Given the description of an element on the screen output the (x, y) to click on. 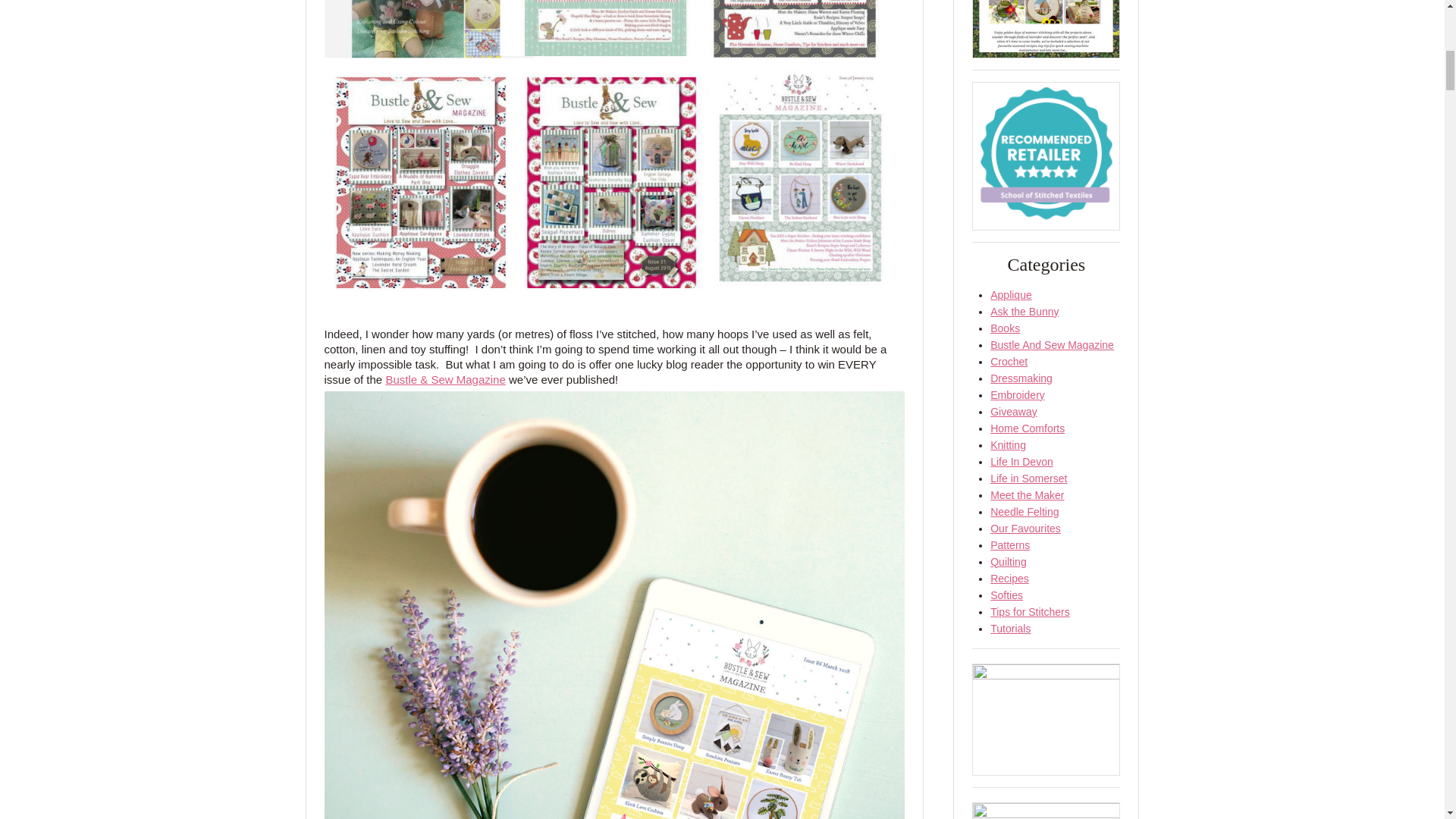
School of Stitched Textiles (1045, 155)
